Given the description of an element on the screen output the (x, y) to click on. 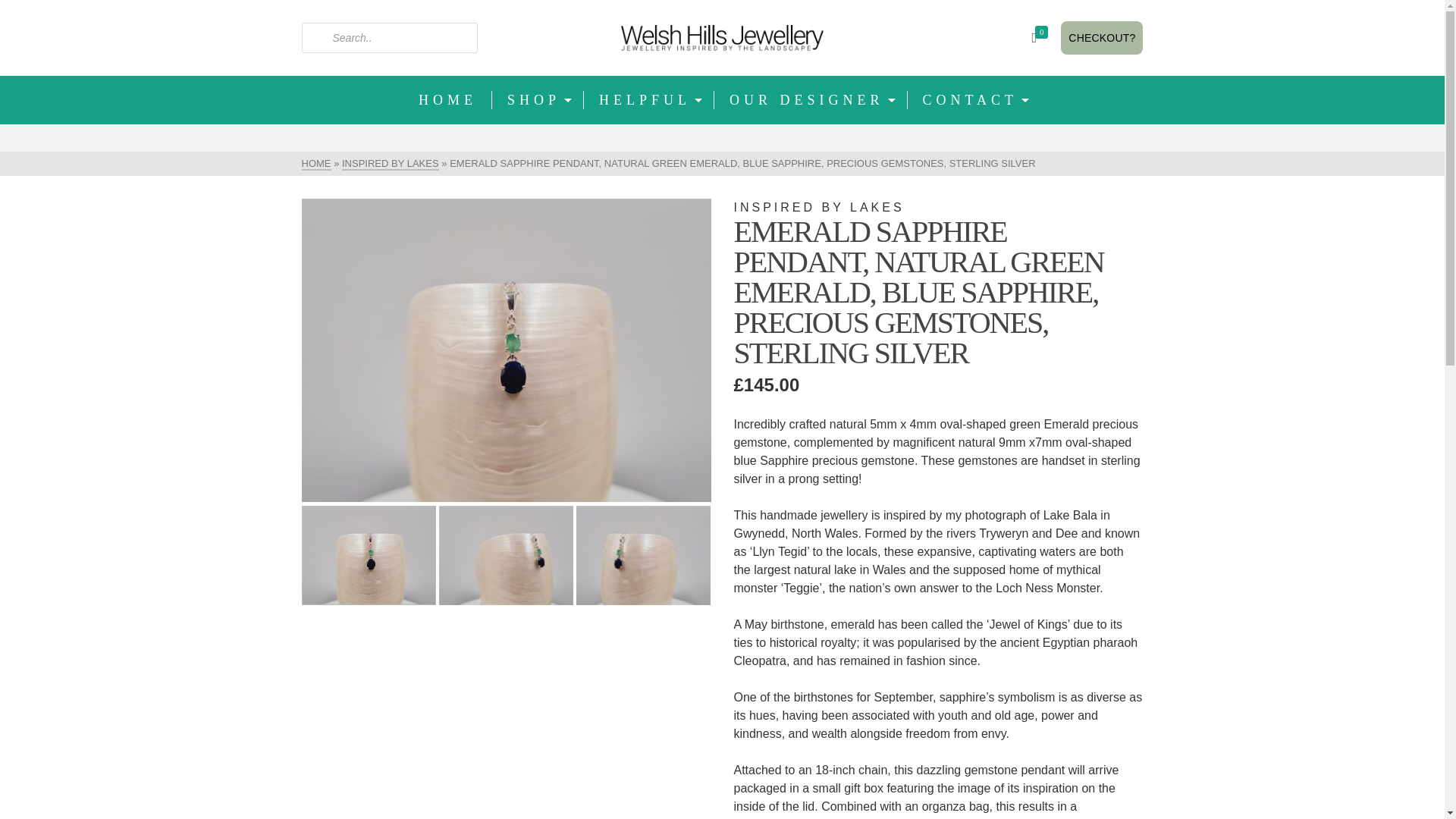
OUR DESIGNER (810, 100)
INSPIRED BY LAKES (390, 164)
HELPFUL (648, 100)
HOME (316, 164)
CONTACT (974, 100)
HOME (447, 100)
CHECKOUT? (1101, 37)
SHOP (537, 100)
5323-2 (506, 350)
0 (1042, 38)
